Given the description of an element on the screen output the (x, y) to click on. 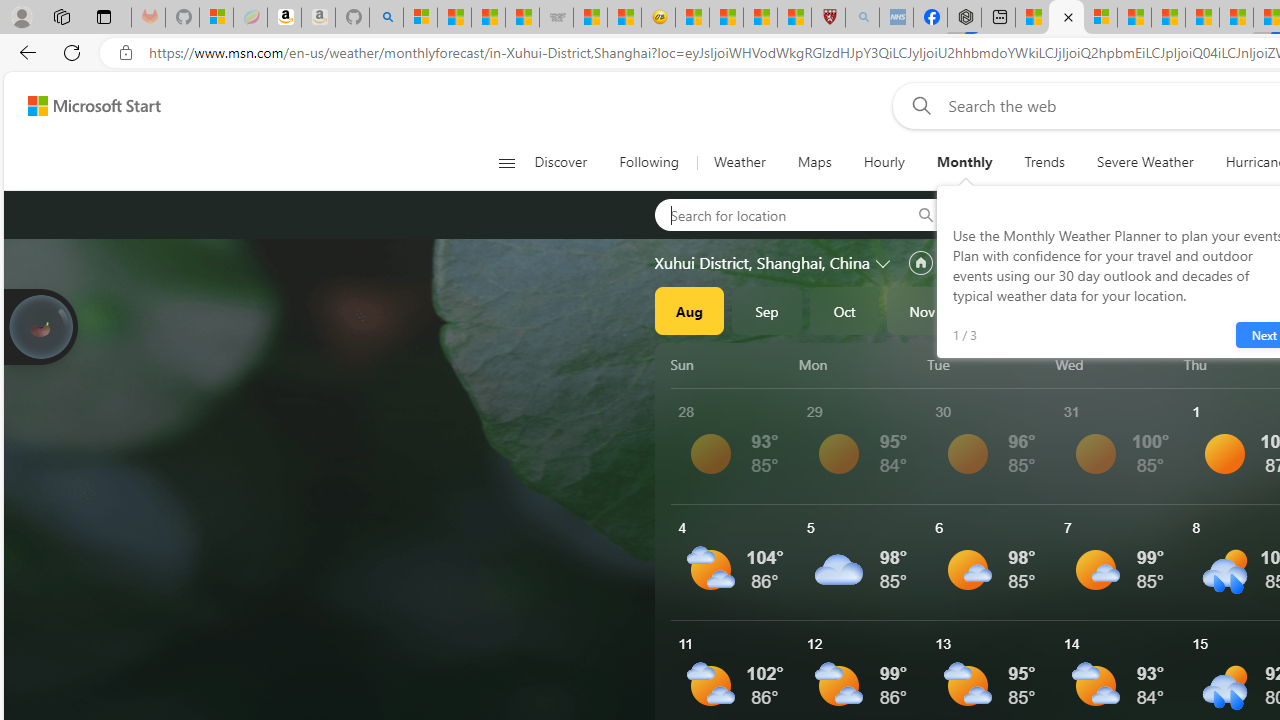
Sep (767, 310)
2025 Jan (1077, 310)
Severe Weather (1145, 162)
Wed (1115, 363)
Remove location (1149, 214)
Monthly (964, 162)
